Given the description of an element on the screen output the (x, y) to click on. 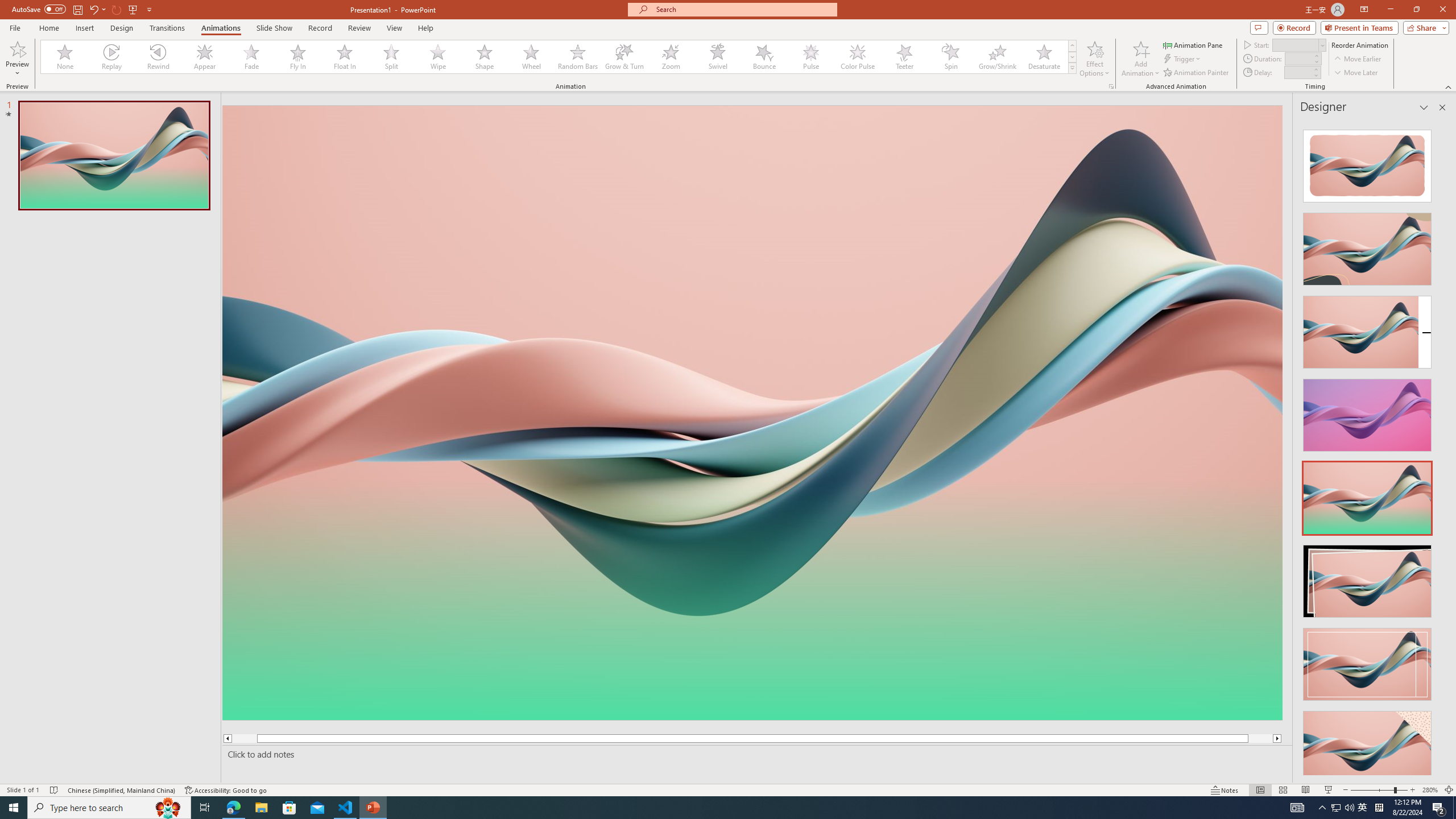
Swivel (717, 56)
Animation Duration (1298, 58)
Teeter (903, 56)
Rewind (158, 56)
Appear (205, 56)
Pulse (810, 56)
Slide Notes (754, 754)
